Given the description of an element on the screen output the (x, y) to click on. 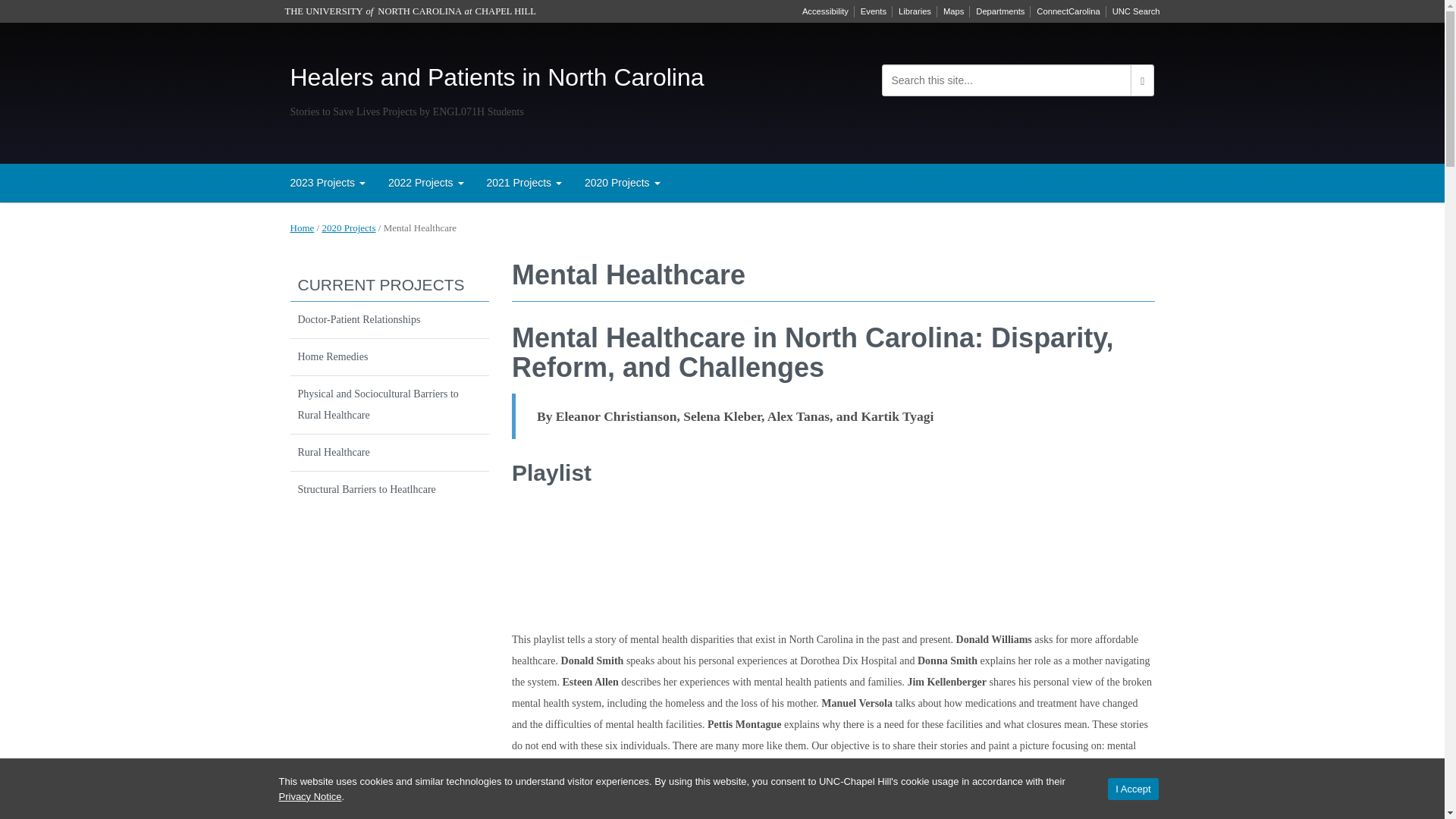
2021 Projects (523, 182)
THE UNIVERSITY of NORTH CAROLINA at CHAPEL HILL (410, 11)
ConnectCarolina (1067, 11)
2022 Projects (426, 182)
2023 Projects (328, 182)
Accessibility (825, 11)
Departments (999, 11)
Healers and Patients in North Carolina (496, 76)
2020 Projects (622, 182)
